Given the description of an element on the screen output the (x, y) to click on. 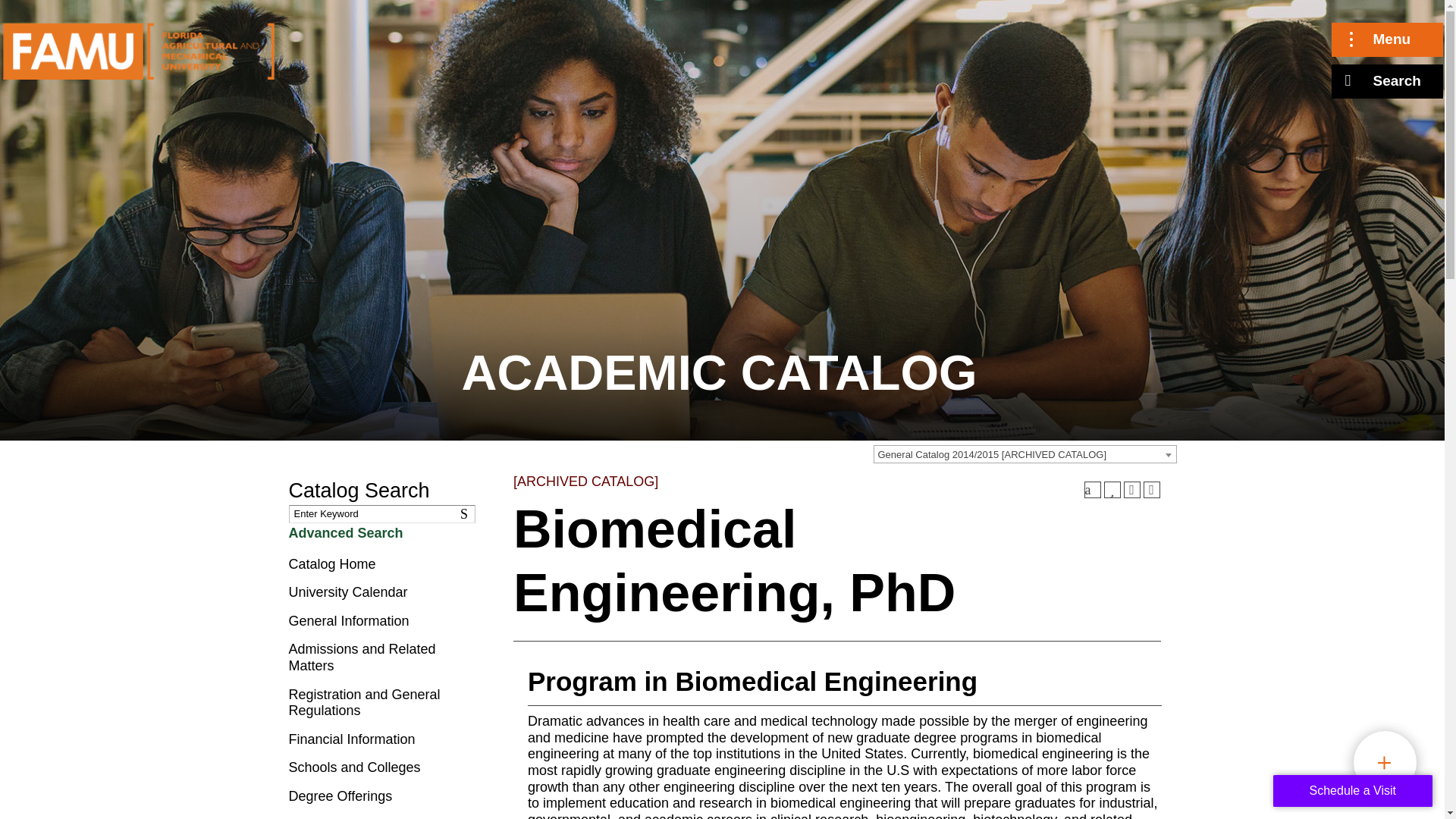
Search Keyword Field, required (381, 514)
Search (1387, 81)
Enter Keyword   (381, 514)
Menu (1387, 39)
Search (467, 514)
Select a Catalog (1024, 454)
